Given the description of an element on the screen output the (x, y) to click on. 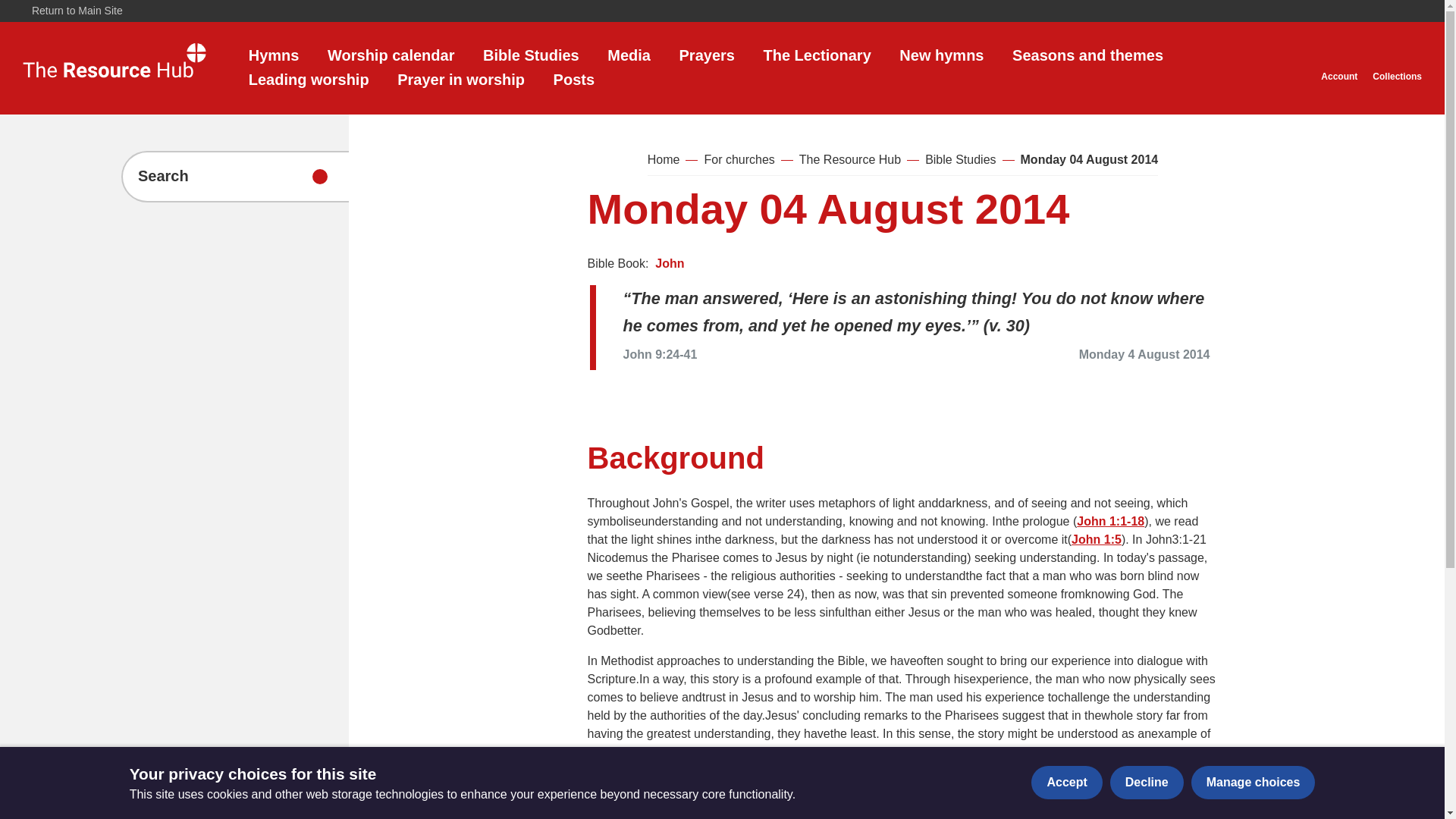
Worship calendar (390, 54)
Prayer in worship (460, 79)
Posts (573, 79)
The Lectionary (816, 54)
Leading worship (308, 79)
Return to Main Site (72, 10)
Hymns (273, 54)
John (669, 263)
For churches (738, 159)
Prayers (707, 54)
For churches (738, 159)
The Resource Hub (850, 159)
Seasons and themes (1087, 54)
The Resource Hub (114, 67)
Home (663, 159)
